Given the description of an element on the screen output the (x, y) to click on. 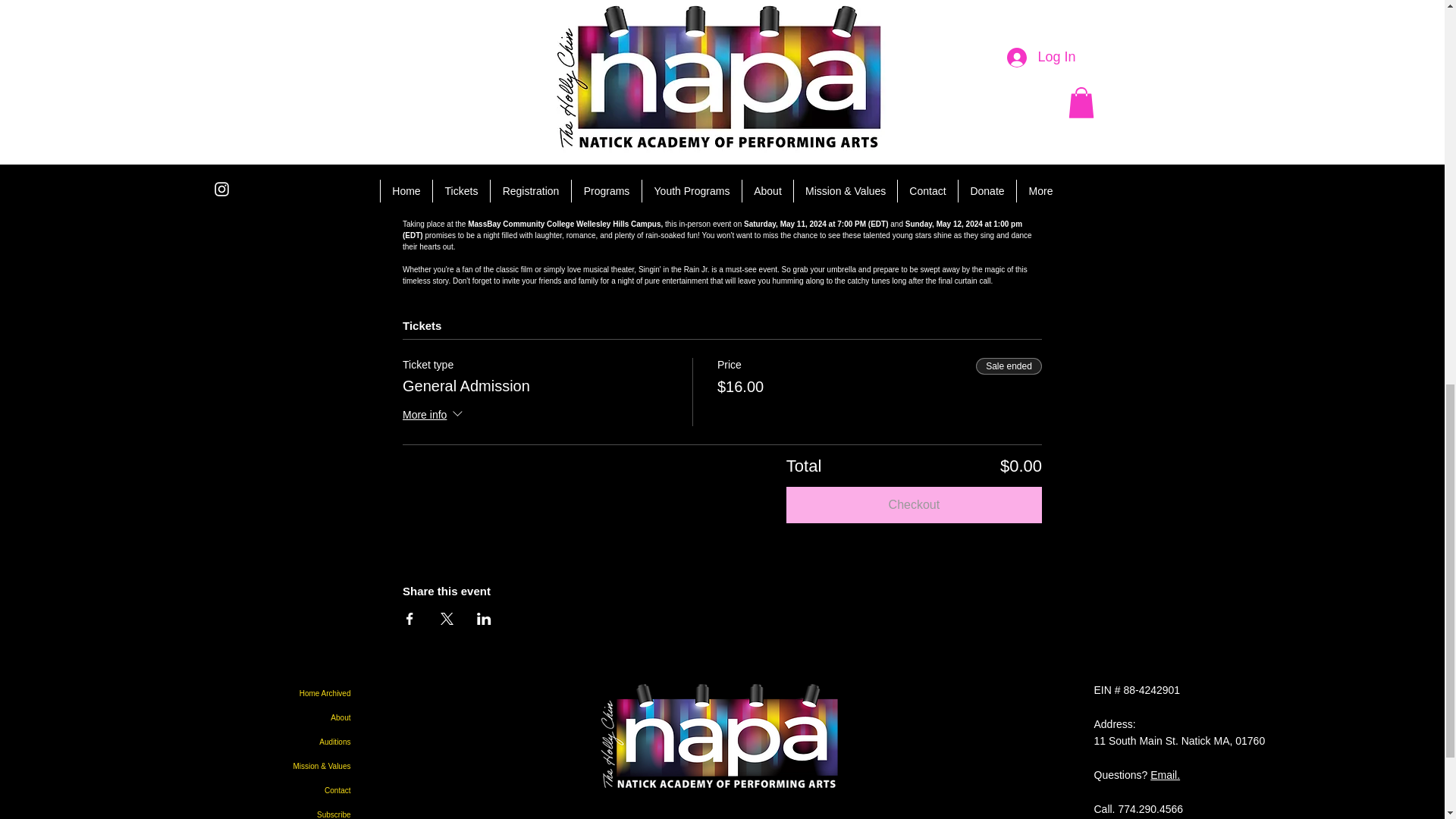
More info (434, 415)
About (261, 717)
Contact (261, 790)
Checkout (914, 504)
Subscribe (261, 811)
Home Archived (261, 693)
Auditions (261, 742)
Email. (1164, 775)
